Given the description of an element on the screen output the (x, y) to click on. 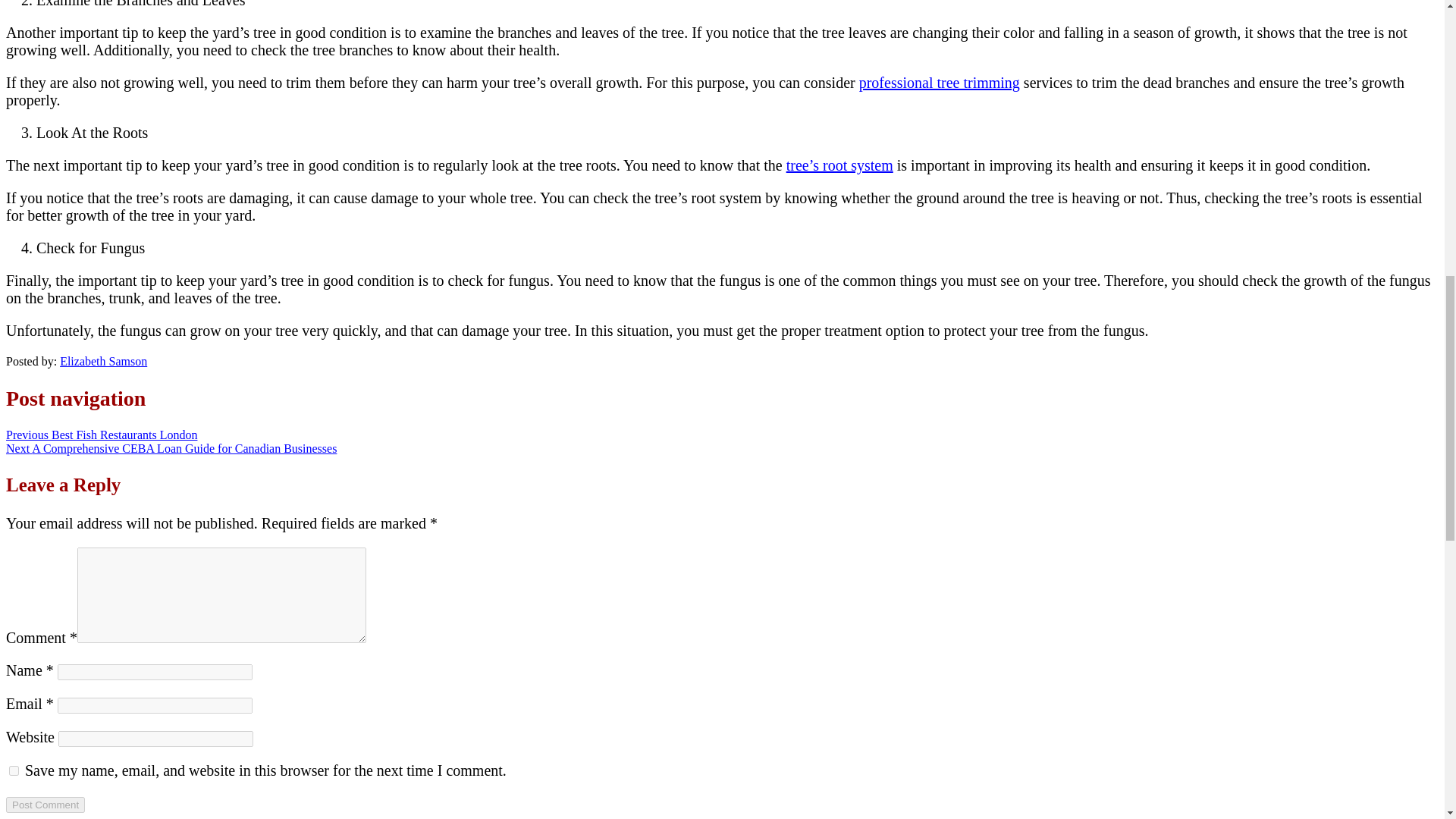
professional tree trimming (939, 82)
Elizabeth Samson (103, 360)
Previous Best Fish Restaurants London (100, 434)
Post Comment (44, 804)
yes (13, 770)
Post Comment (44, 804)
Next A Comprehensive CEBA Loan Guide for Canadian Businesses (170, 448)
